Given the description of an element on the screen output the (x, y) to click on. 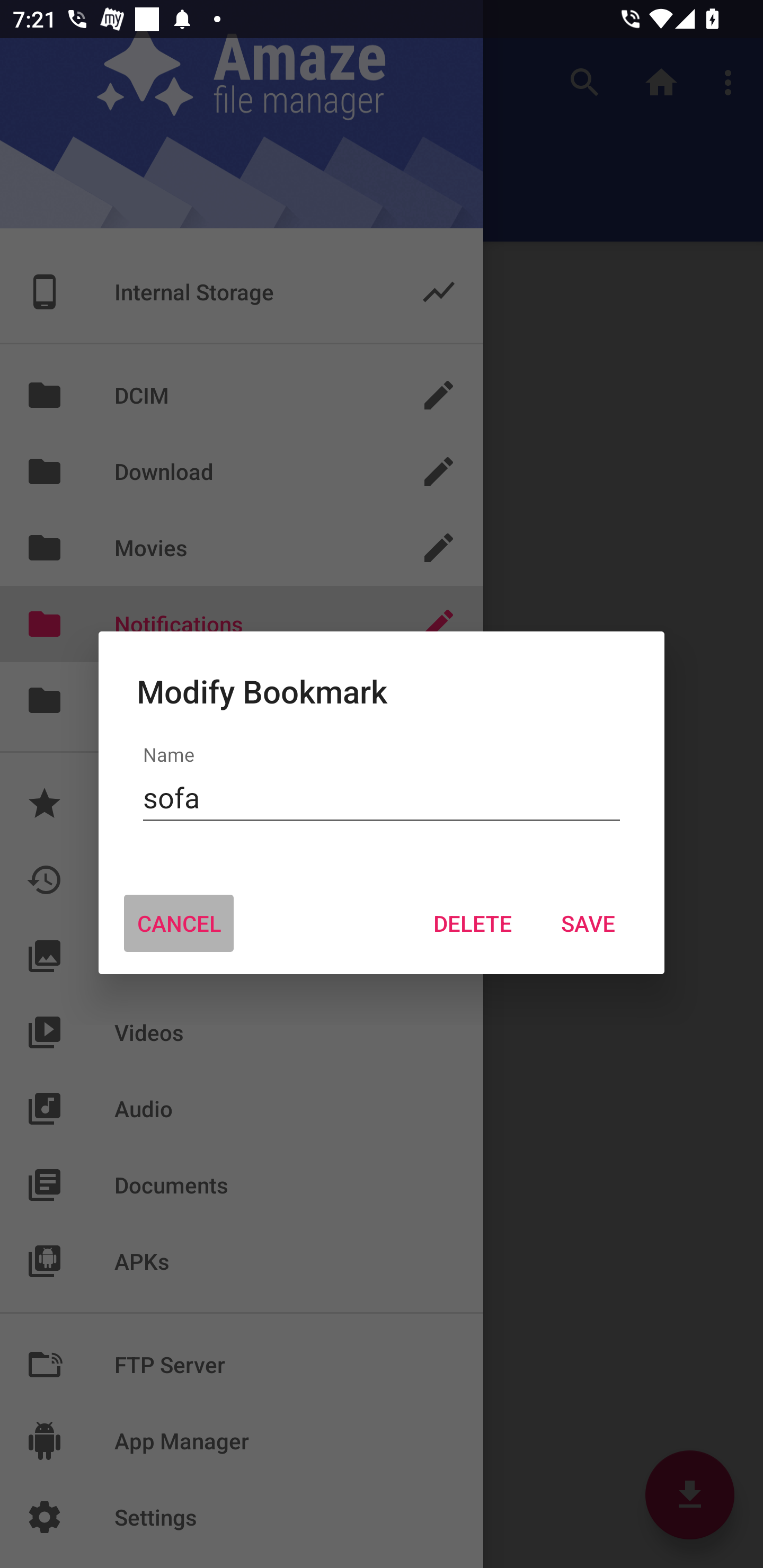
sofa (381, 798)
CANCEL (178, 923)
DELETE (472, 923)
SAVE (588, 923)
